Given the description of an element on the screen output the (x, y) to click on. 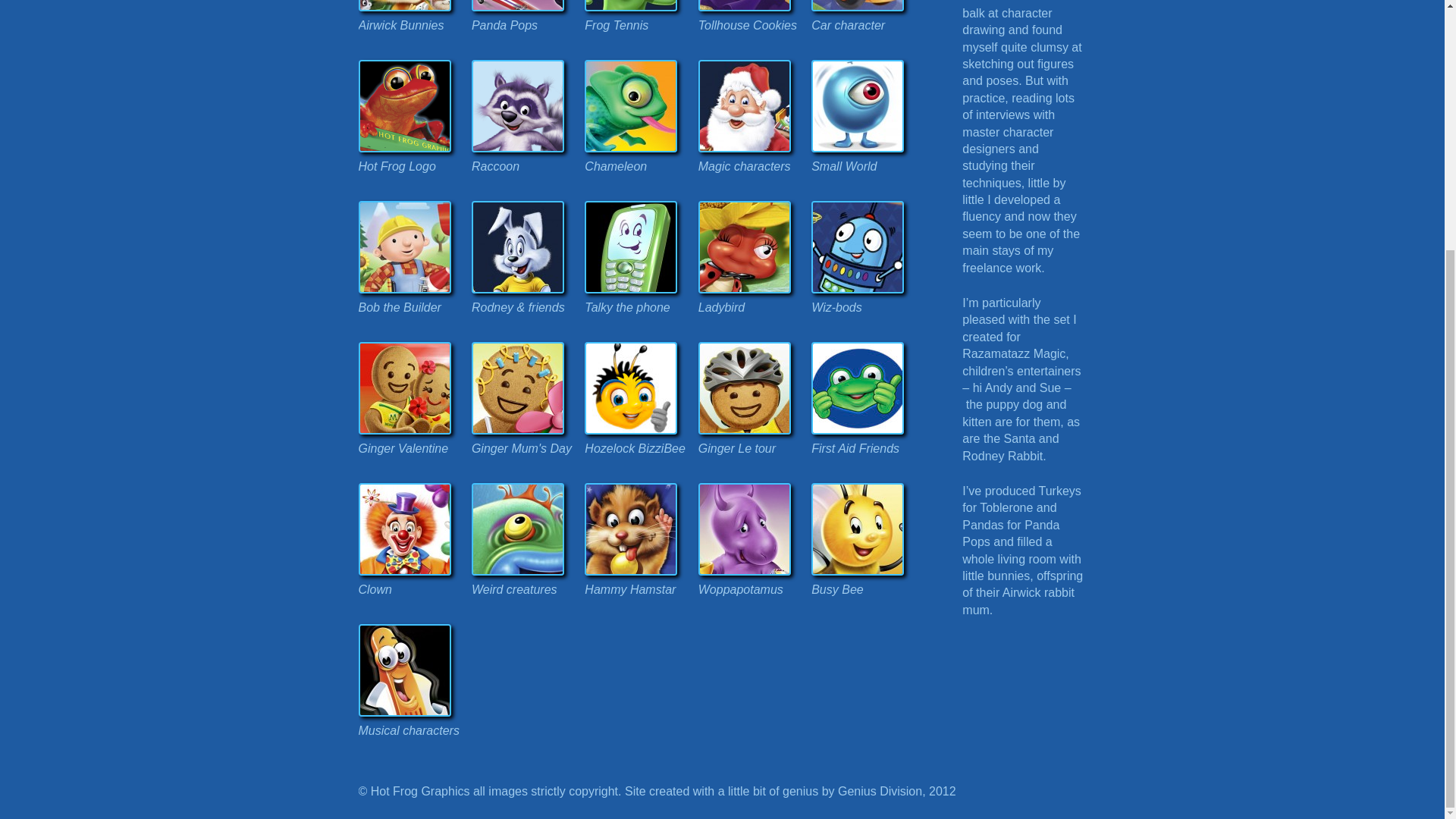
Frog Tennis (636, 23)
Tollhouse Cookies (750, 23)
Panda Pops (523, 23)
Airwick Bunnies (410, 23)
Car character (862, 23)
